Given the description of an element on the screen output the (x, y) to click on. 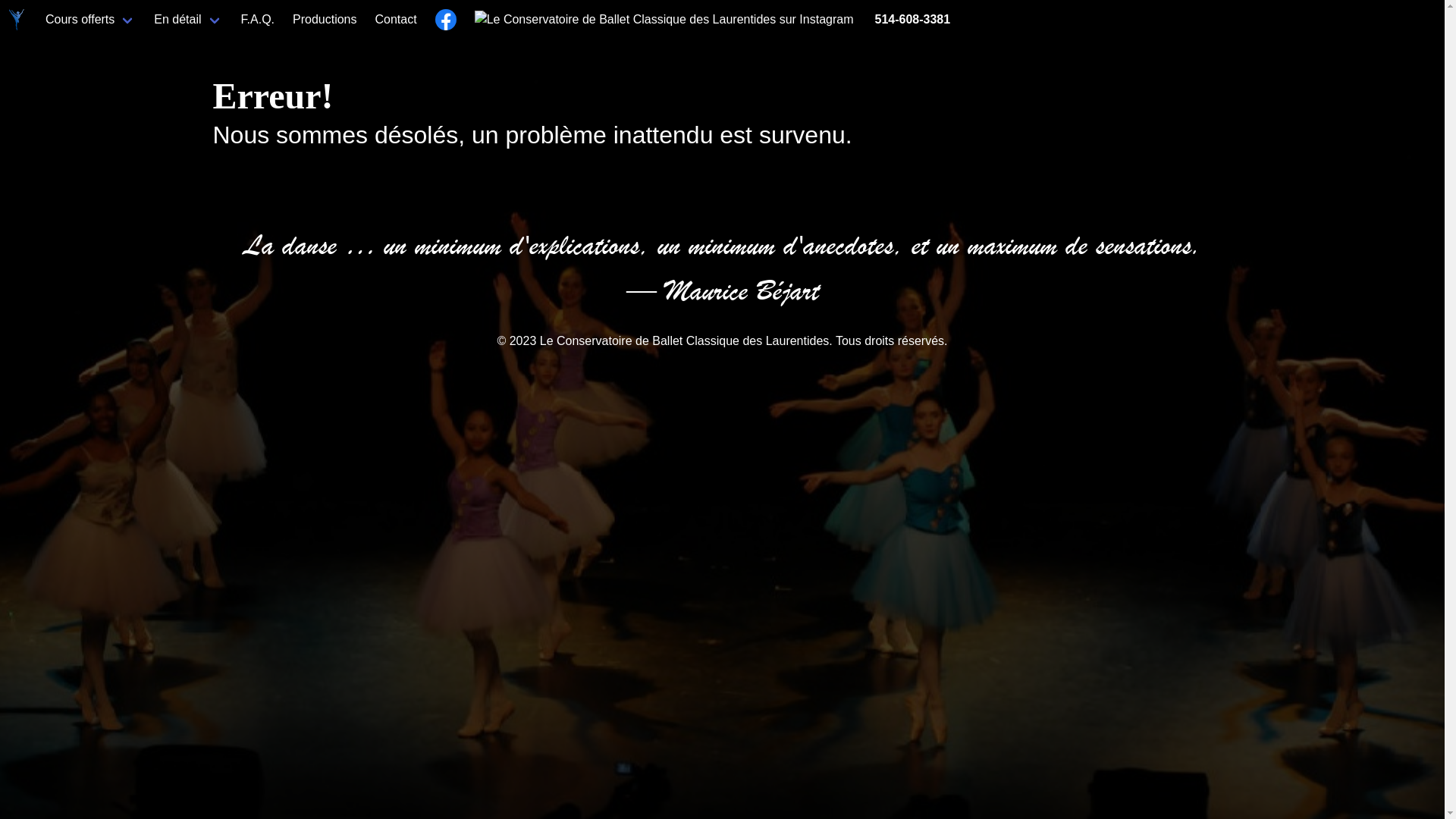
Cours offerts Element type: text (90, 19)
Contact Element type: text (396, 19)
Productions Element type: text (324, 19)
514-608-3381 Element type: text (912, 19)
F.A.Q. Element type: text (257, 19)
